Given the description of an element on the screen output the (x, y) to click on. 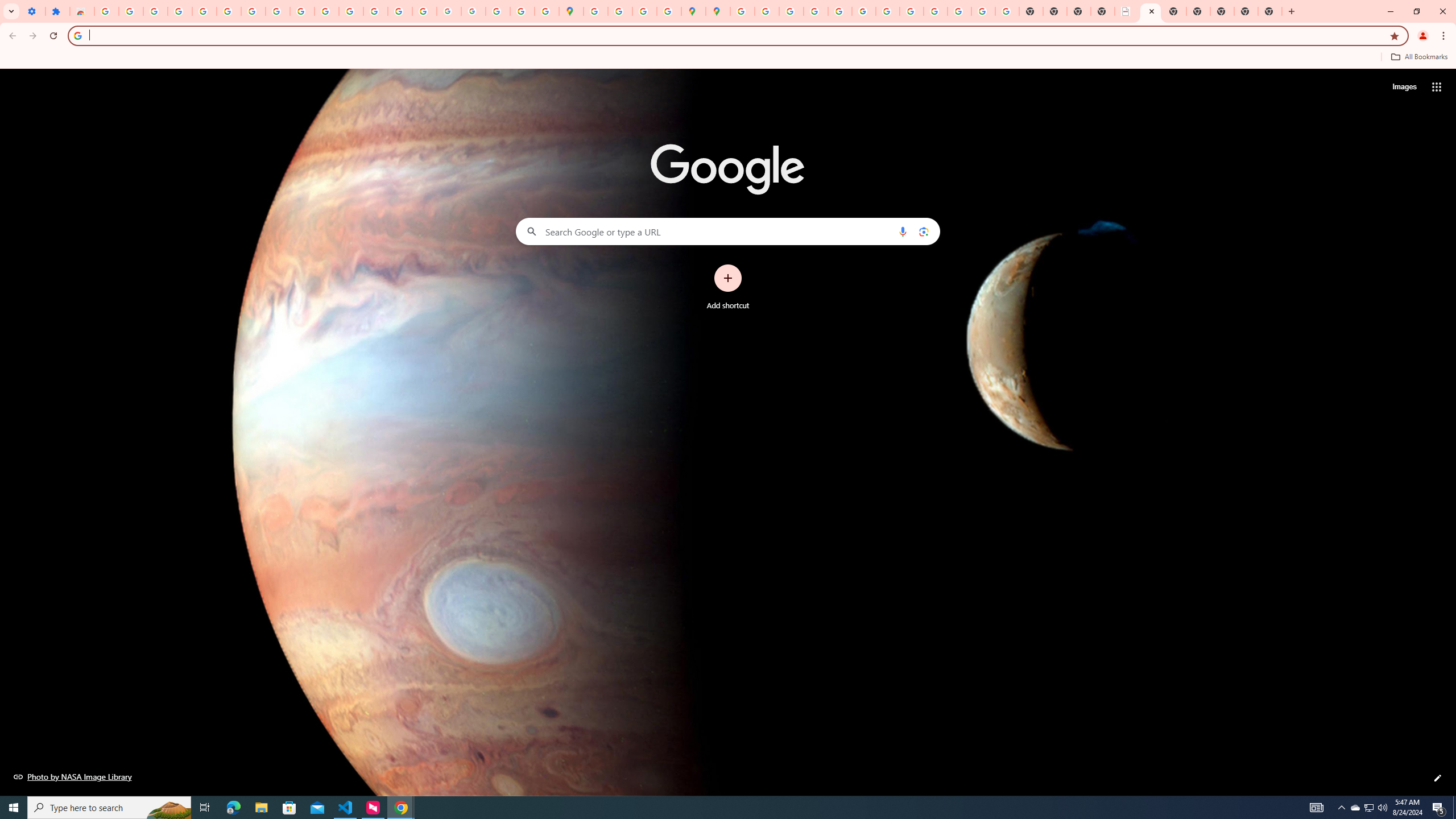
Add shortcut (727, 287)
Google Account (277, 11)
Google Maps (570, 11)
Search for Images  (1403, 87)
Reviews: Helix Fruit Jump Arcade Game (82, 11)
New Tab (1197, 11)
Sign in - Google Accounts (228, 11)
Settings - On startup (33, 11)
